Given the description of an element on the screen output the (x, y) to click on. 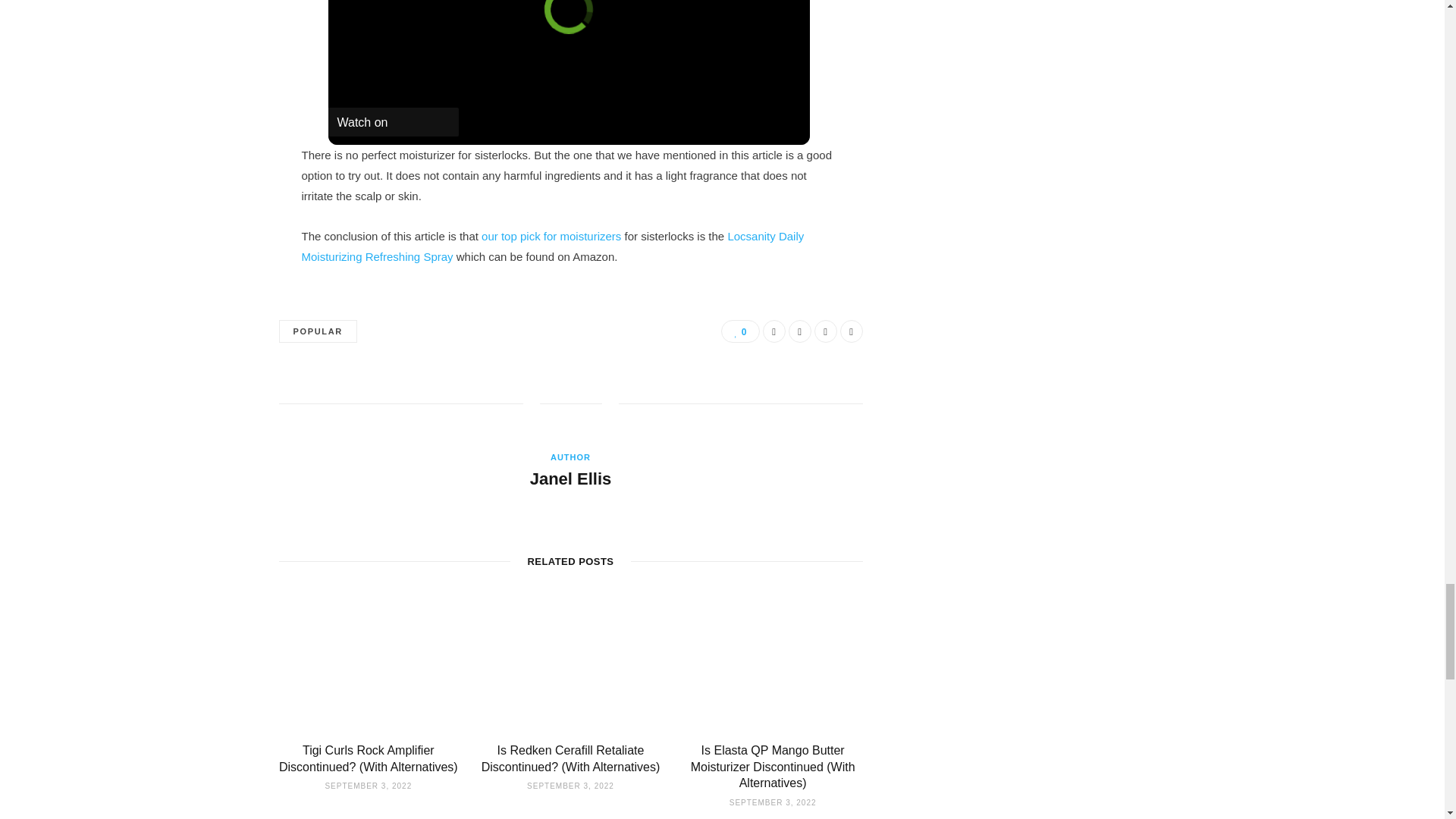
Share on Facebook (774, 331)
Share on Twitter (799, 331)
Posts by Janel Ellis (570, 479)
Email (851, 331)
Pinterest (825, 331)
Watch on (392, 121)
